Given the description of an element on the screen output the (x, y) to click on. 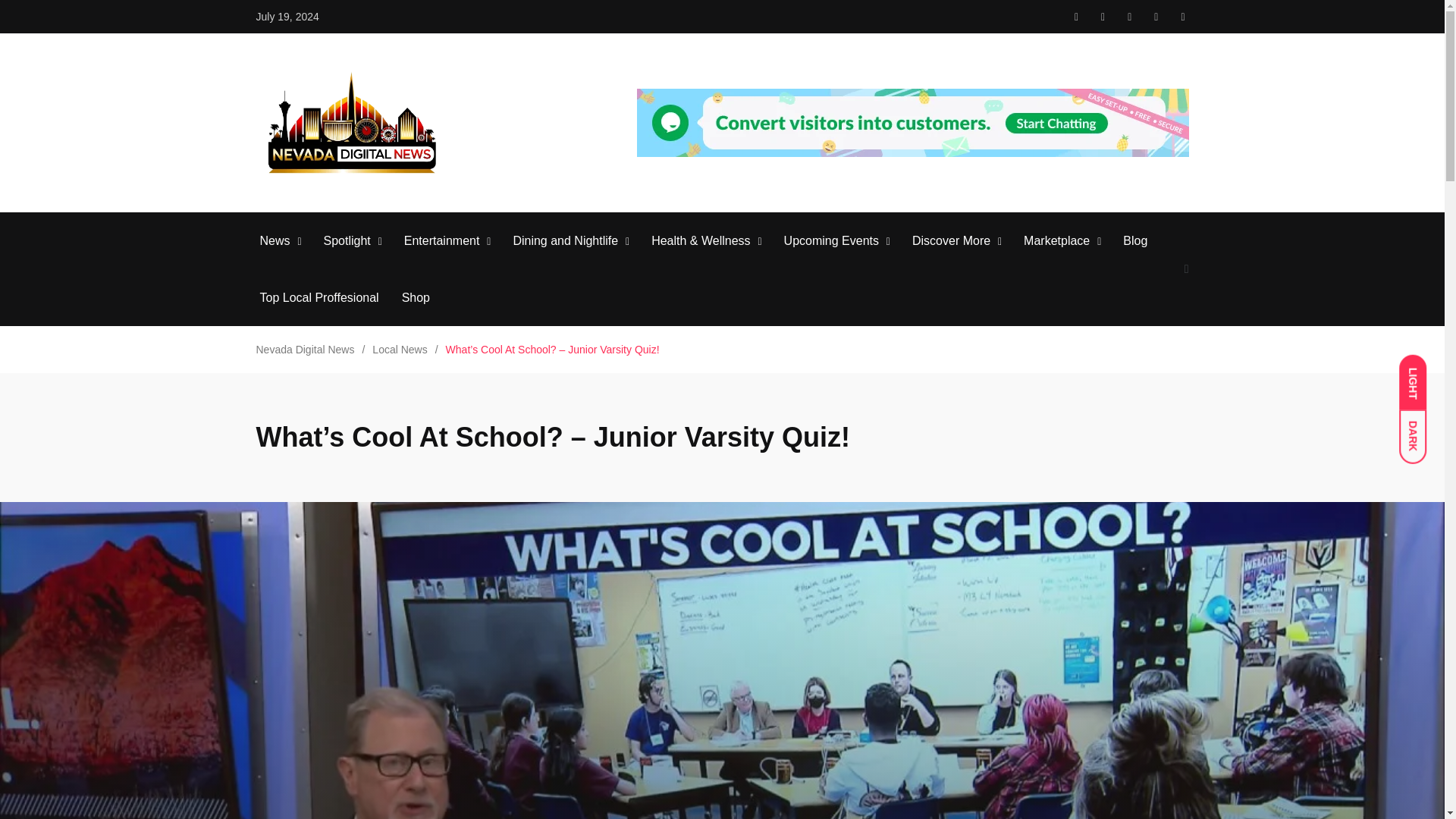
News (274, 240)
Go to Nevada Digital News. (305, 349)
Entertainment (442, 240)
Go to the Local News Category archives. (399, 349)
Spotlight (347, 240)
Light Mode (1420, 375)
Dining and Nightlife (564, 240)
Dark Mode (1419, 428)
